Given the description of an element on the screen output the (x, y) to click on. 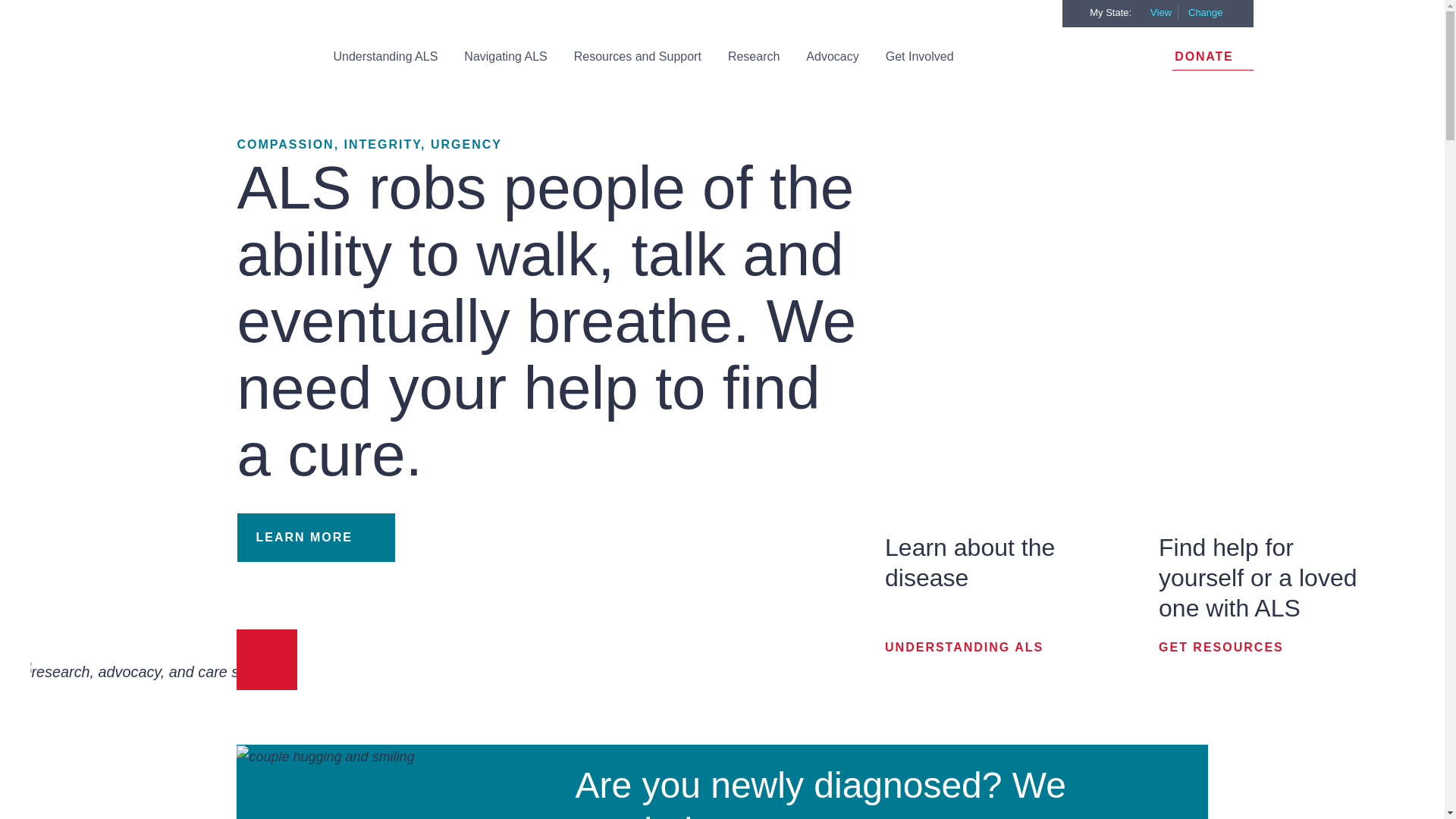
Get Involved (919, 57)
Skip to main content (722, 6)
Search (1038, 13)
Navigating ALS (504, 57)
Understanding ALS (384, 57)
GET RESOURCES (1242, 647)
DONATE (1212, 57)
View (1163, 12)
Change (1217, 12)
Resources and Support (637, 57)
